Given the description of an element on the screen output the (x, y) to click on. 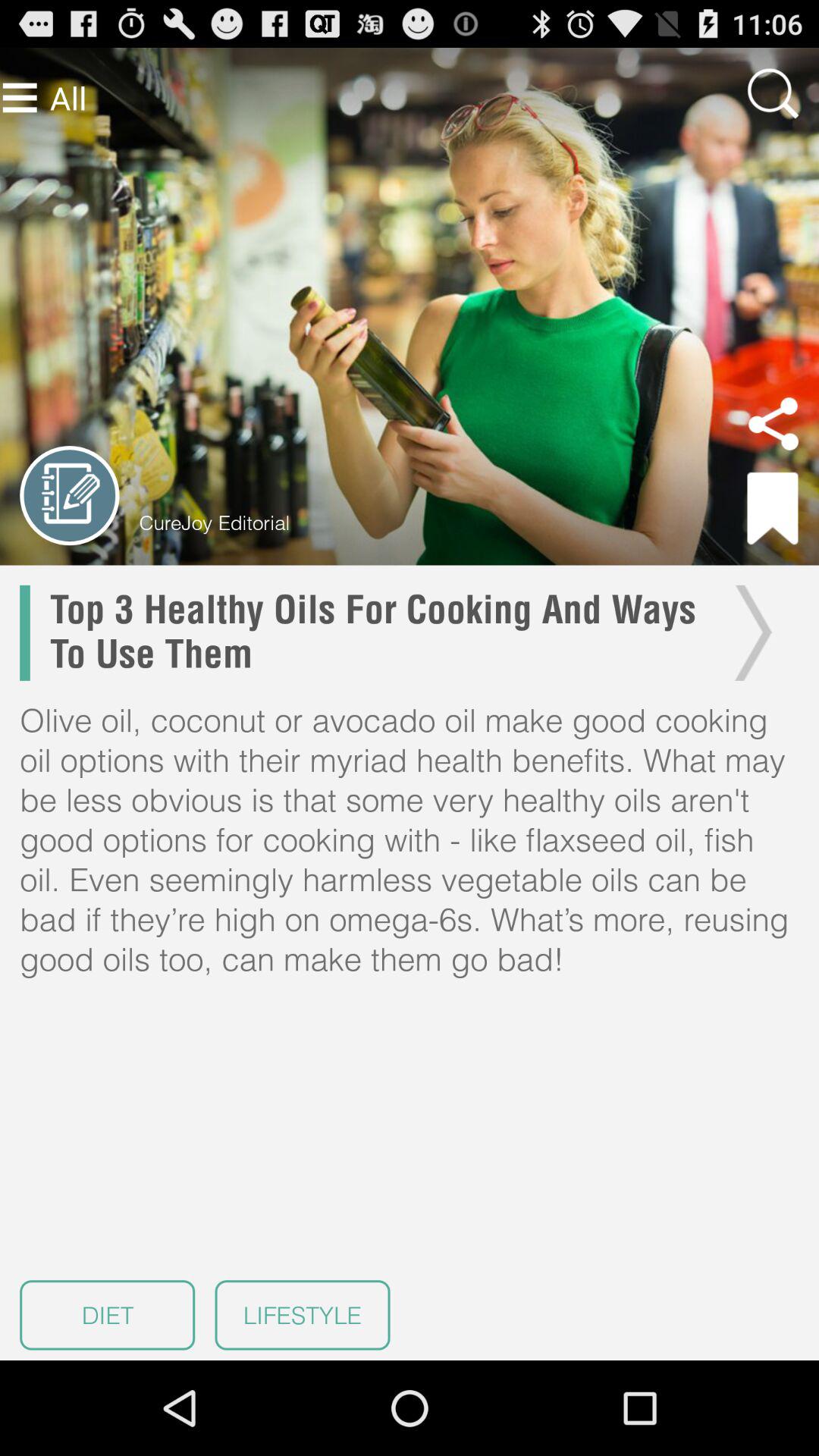
press item next to all item (19, 97)
